Given the description of an element on the screen output the (x, y) to click on. 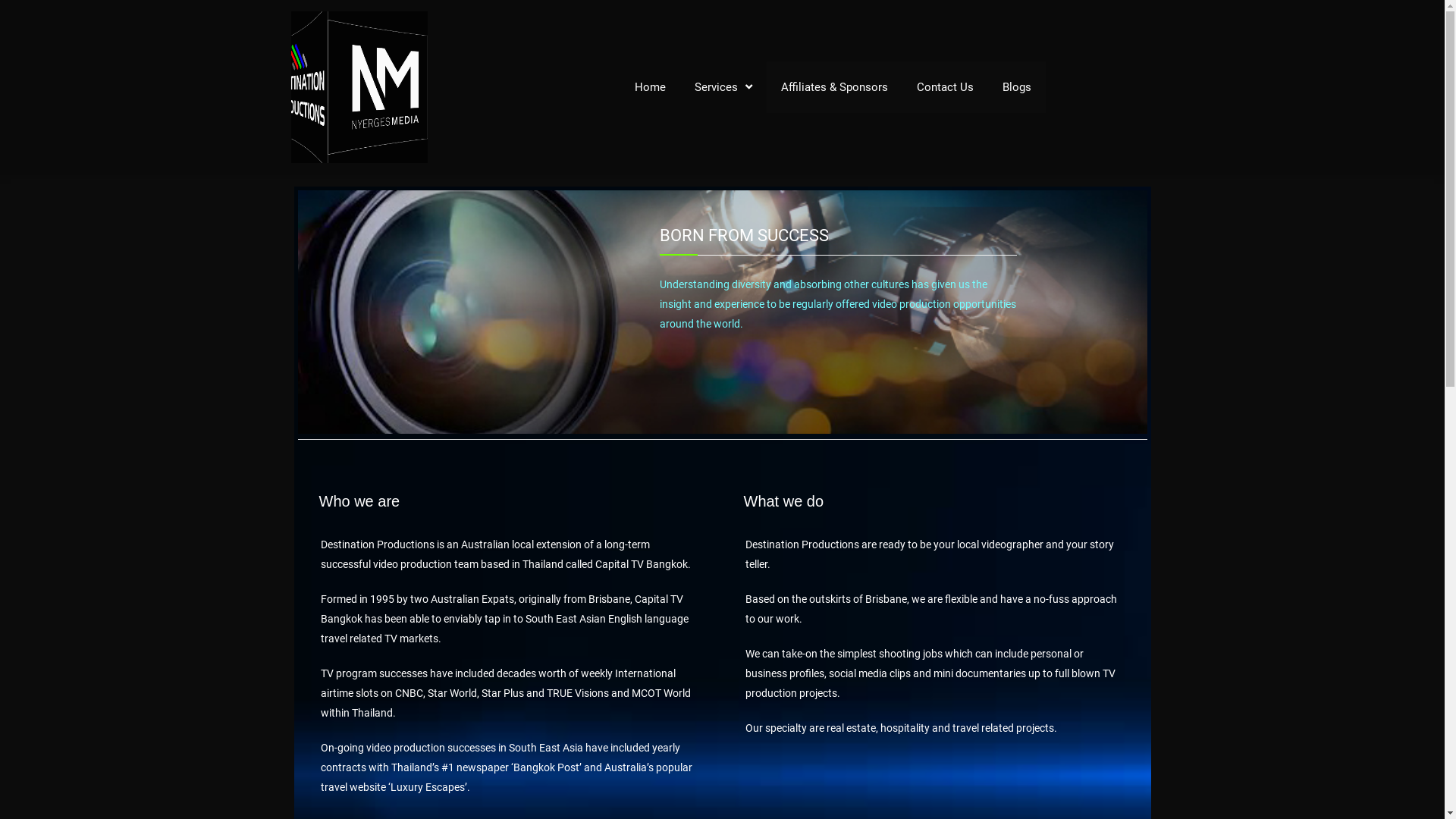
Contact Us Element type: text (945, 86)
Services Element type: text (723, 86)
Home Element type: text (650, 86)
Affiliates & Sponsors Element type: text (834, 86)
Search Element type: text (113, 18)
Blogs Element type: text (1016, 86)
